Given the description of an element on the screen output the (x, y) to click on. 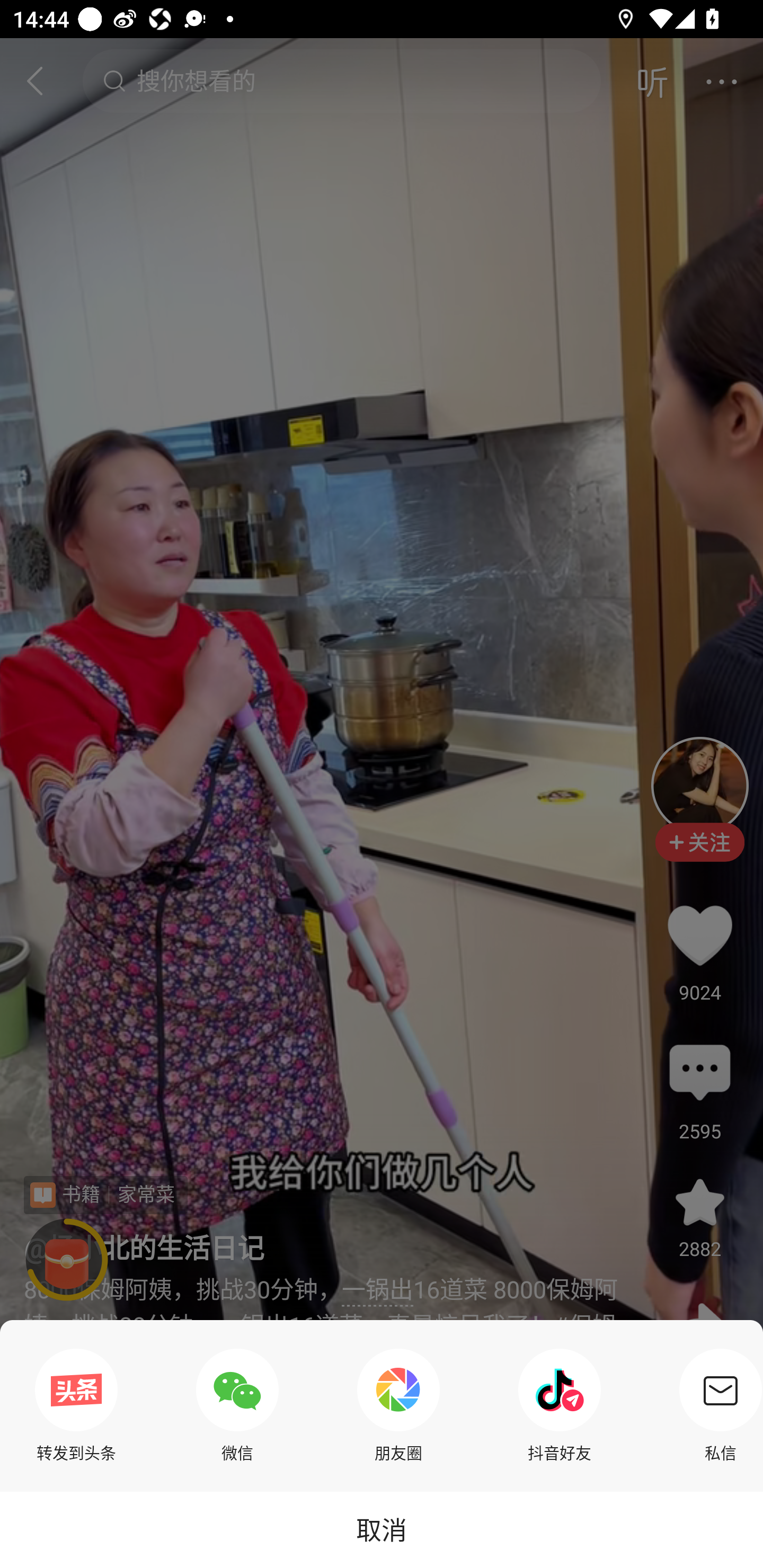
转发到头条 (76, 1405)
微信 (237, 1405)
朋友圈 (398, 1405)
抖音好友 (559, 1405)
私信 (716, 1405)
取消 (381, 1529)
